Given the description of an element on the screen output the (x, y) to click on. 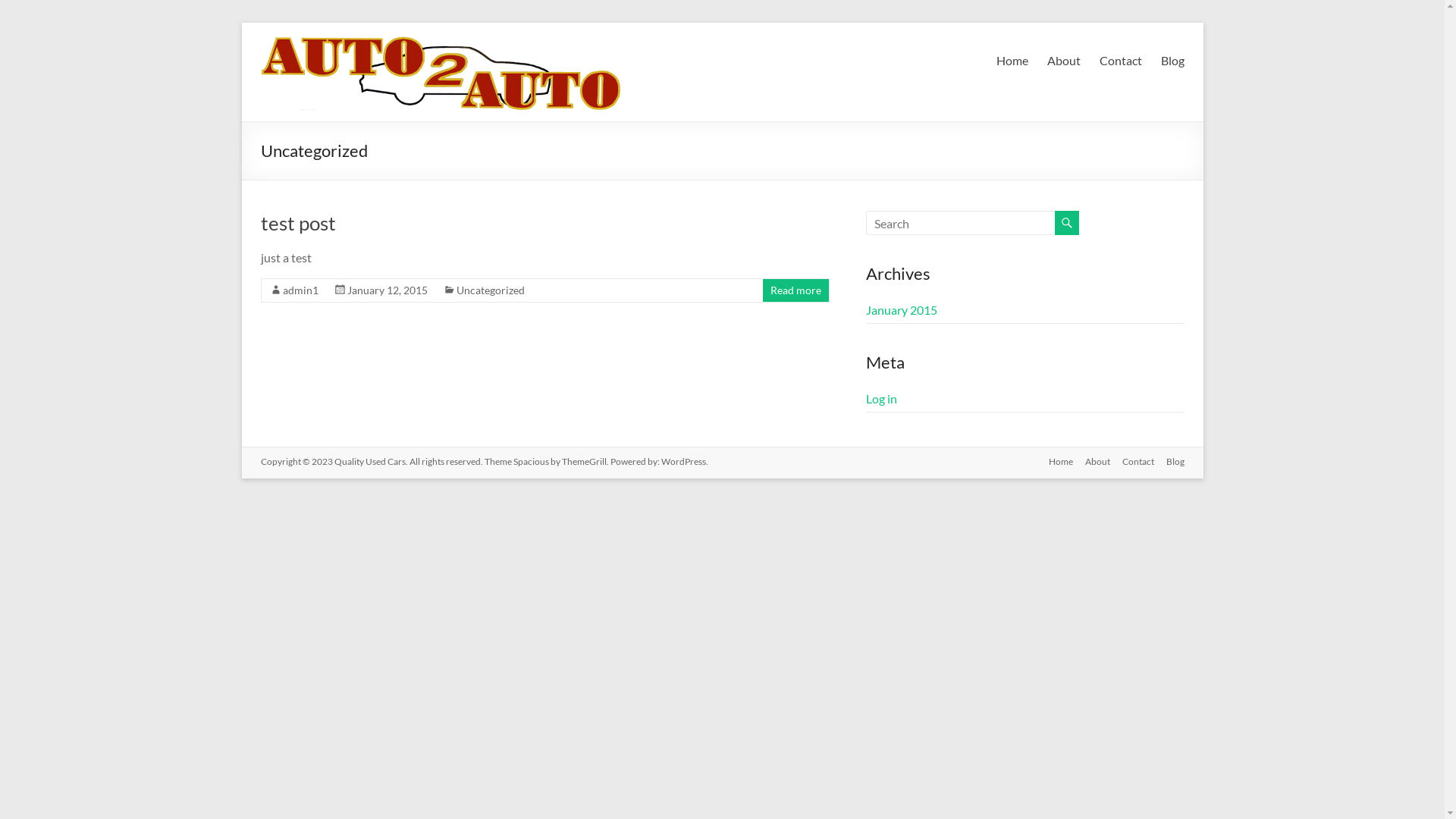
test post Element type: text (297, 222)
Blog Element type: text (1169, 462)
Home Element type: text (1053, 462)
Uncategorized Element type: text (490, 289)
Log in Element type: text (881, 398)
Home Element type: text (1012, 60)
Read more Element type: text (795, 289)
Contact Element type: text (1132, 462)
January 2015 Element type: text (901, 309)
admin1 Element type: text (299, 289)
January 12, 2015 Element type: text (387, 289)
Quality Used Cars Element type: text (368, 461)
Contact Element type: text (1120, 60)
Quality Used Cars Element type: text (745, 55)
WordPress Element type: text (683, 461)
Spacious Element type: text (530, 461)
Skip to content Element type: text (241, 21)
About Element type: text (1062, 60)
About Element type: text (1090, 462)
Blog Element type: text (1171, 60)
